Given the description of an element on the screen output the (x, y) to click on. 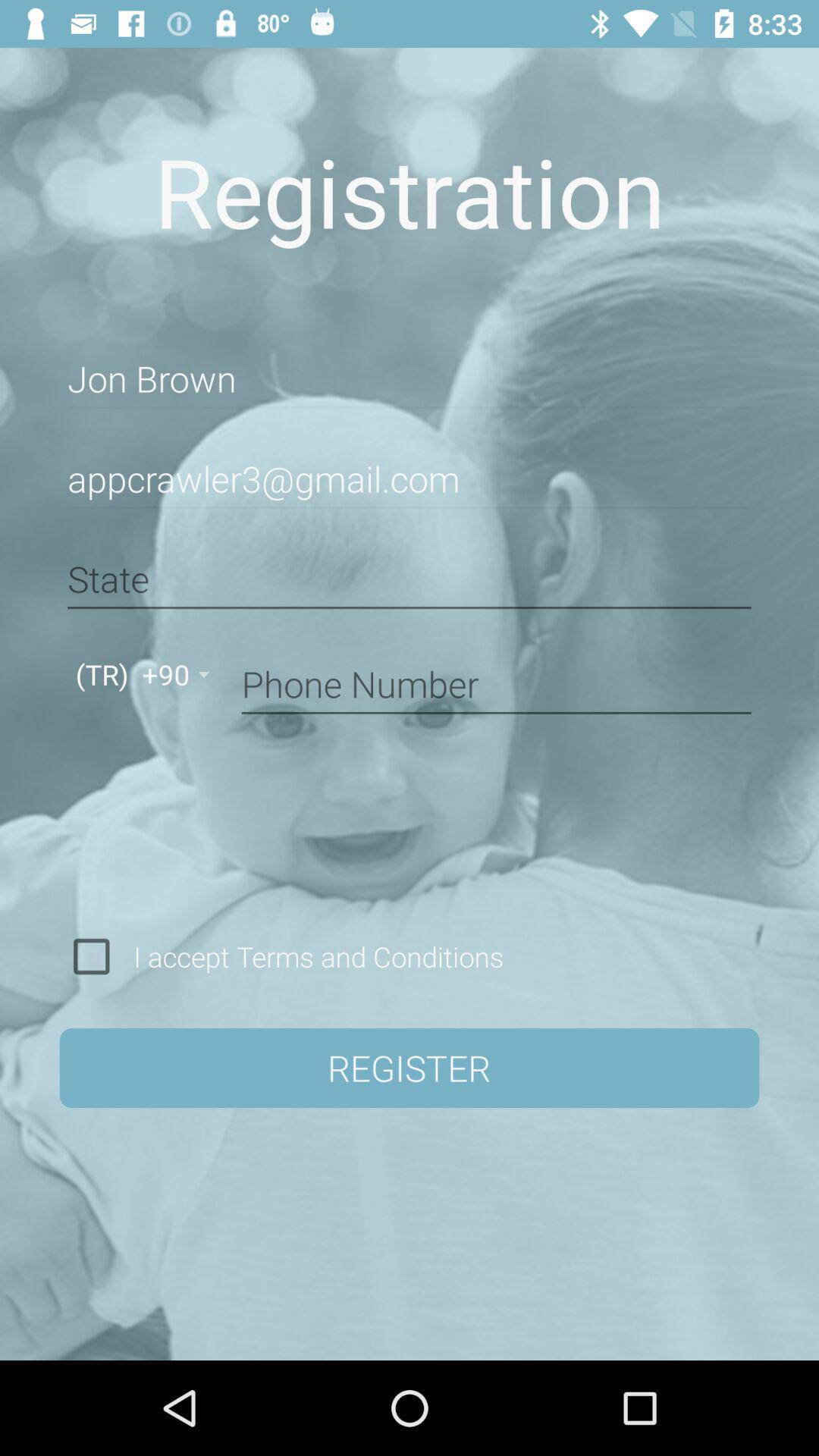
jump until i accept terms icon (313, 956)
